Given the description of an element on the screen output the (x, y) to click on. 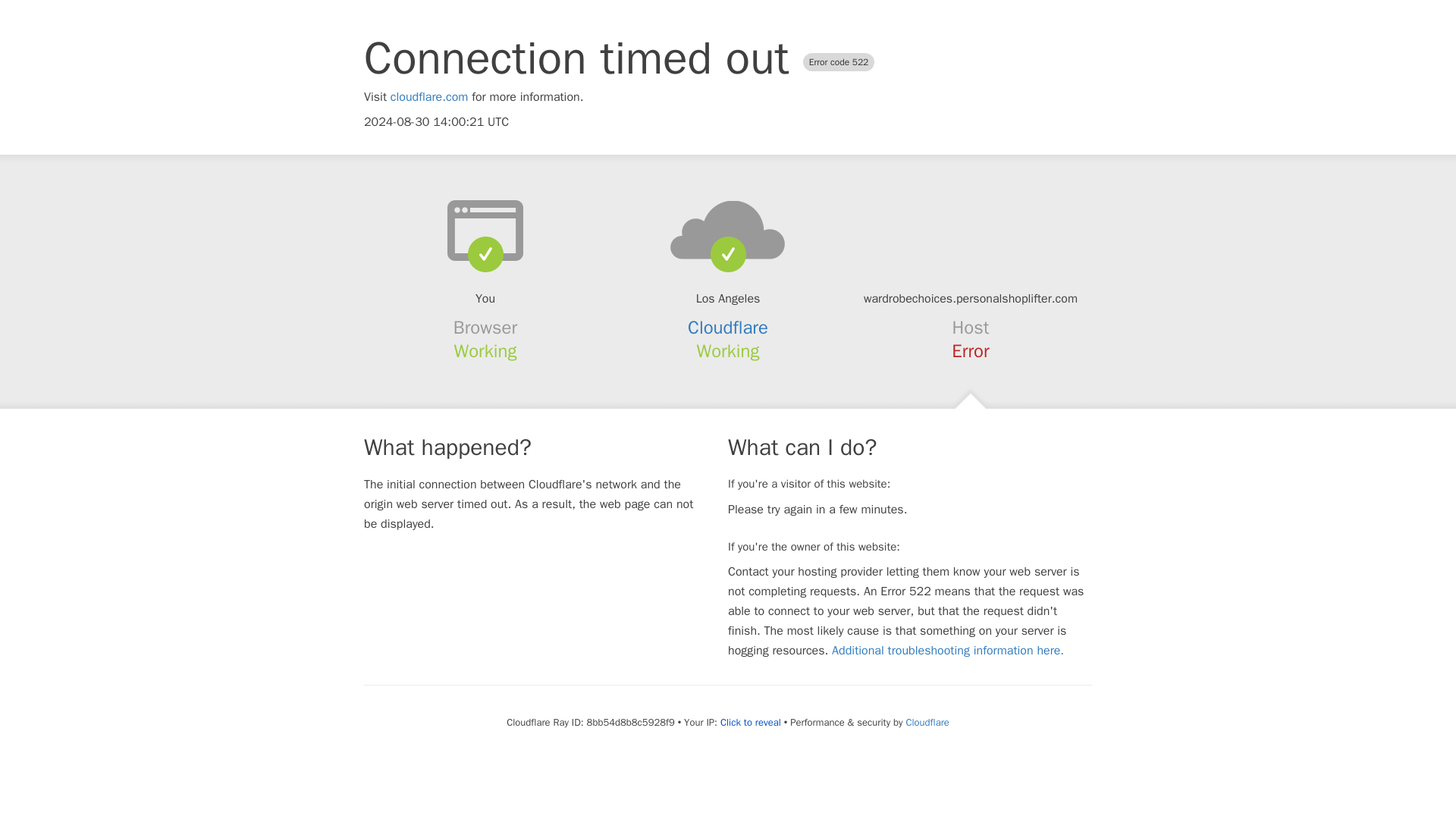
Additional troubleshooting information here. (947, 650)
Click to reveal (750, 722)
cloudflare.com (429, 96)
Cloudflare (927, 721)
Cloudflare (727, 327)
